Given the description of an element on the screen output the (x, y) to click on. 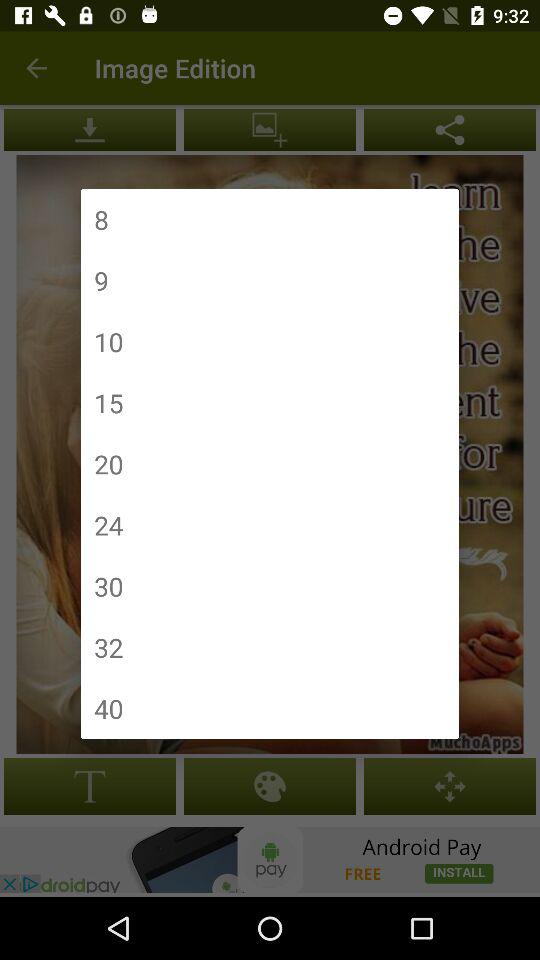
click the icon above 9 icon (101, 219)
